Given the description of an element on the screen output the (x, y) to click on. 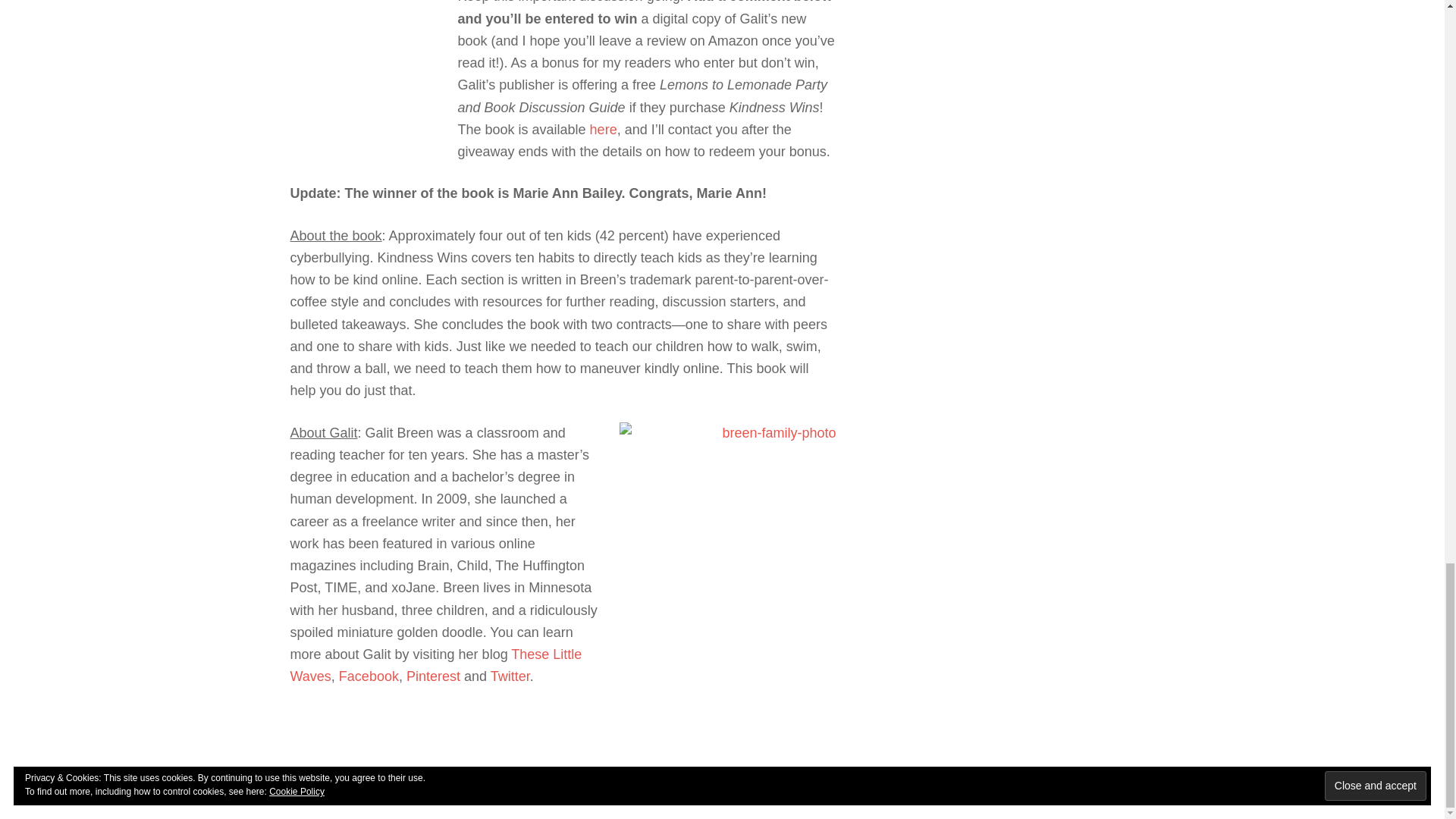
Galit's Twitter profile (509, 676)
These Little Waves (434, 665)
Facebook (368, 676)
Twitter (509, 676)
Galit's Pinterest boards (433, 676)
These Little Waves (434, 665)
Kindness Wins on Amazon (603, 129)
Log in (834, 778)
Galit's Facebook page (368, 676)
here (603, 129)
Pinterest (433, 676)
